Given the description of an element on the screen output the (x, y) to click on. 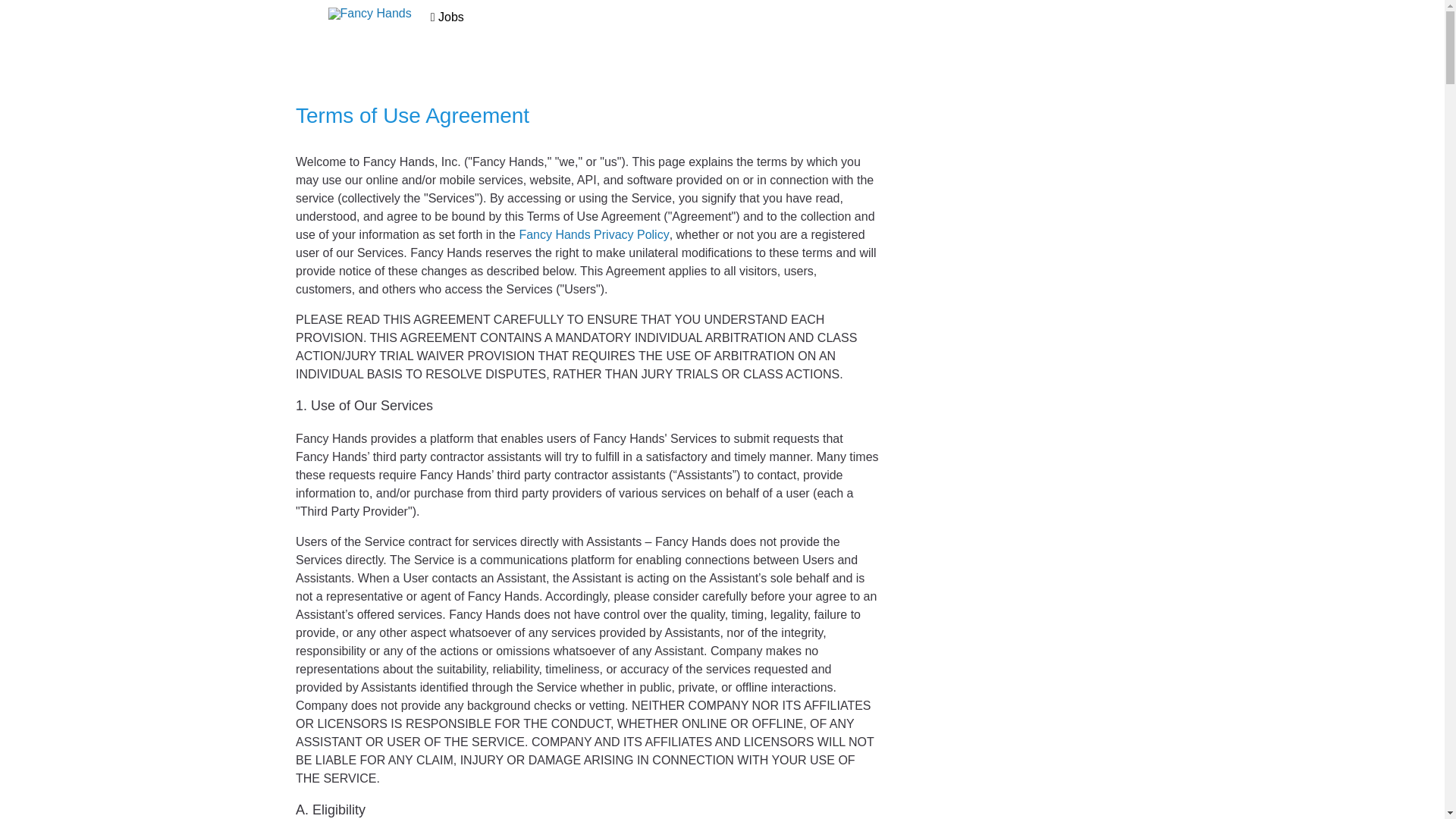
Jobs (447, 16)
Fancy Hands (368, 13)
Fancy Hands Privacy Policy (593, 234)
